Given the description of an element on the screen output the (x, y) to click on. 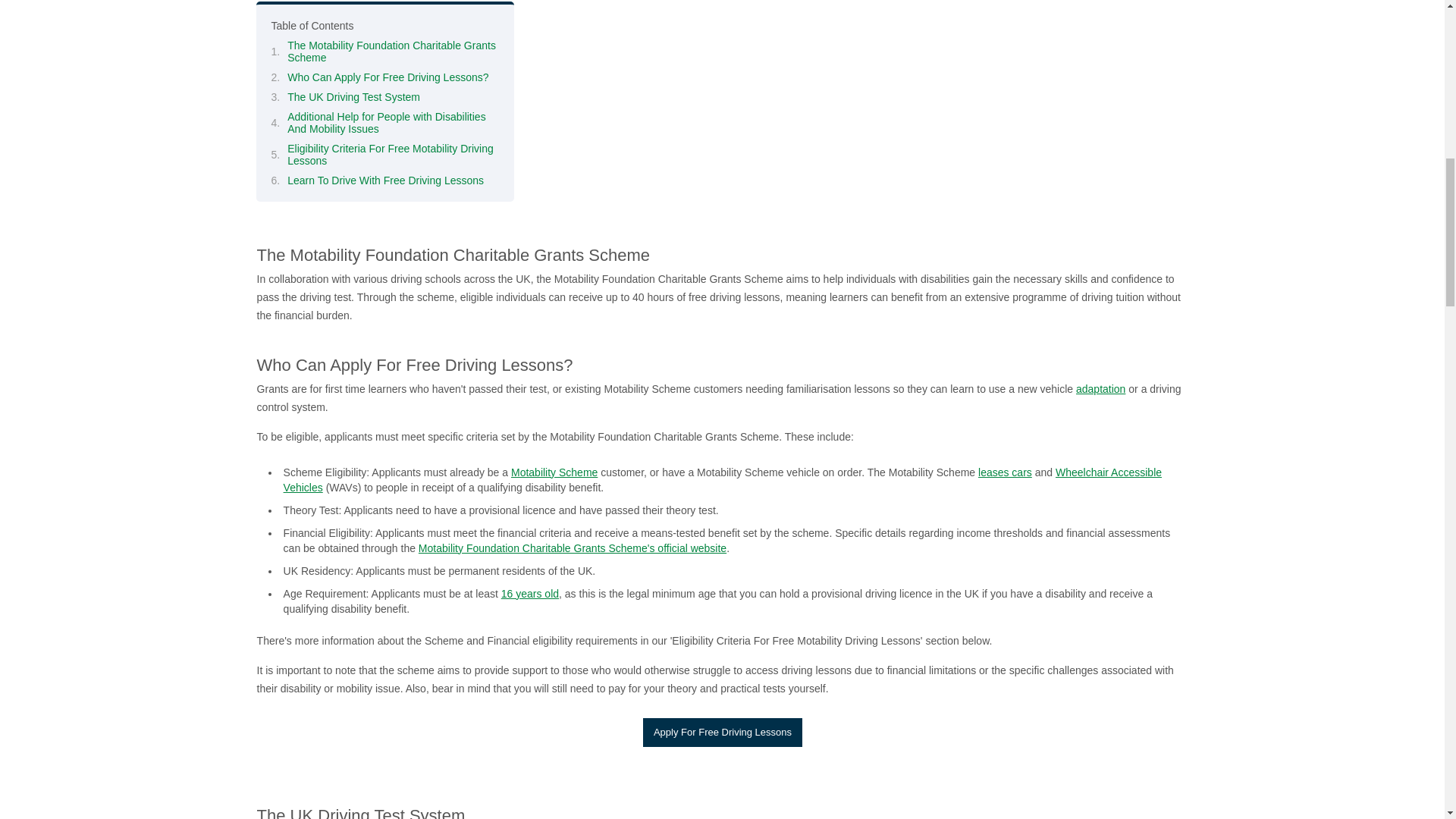
What Is The Motability Scheme? (553, 472)
Apply For Free Driving Lessons (722, 732)
Vehicle Adaptations (1099, 388)
Search For A Motability Car (1005, 472)
Can I Drive A Car At 16 Years Old? (528, 593)
Motability Foundation Charitable Grants Scheme (571, 548)
40 Hours Of Free Driving Lessons (964, 814)
